Given the description of an element on the screen output the (x, y) to click on. 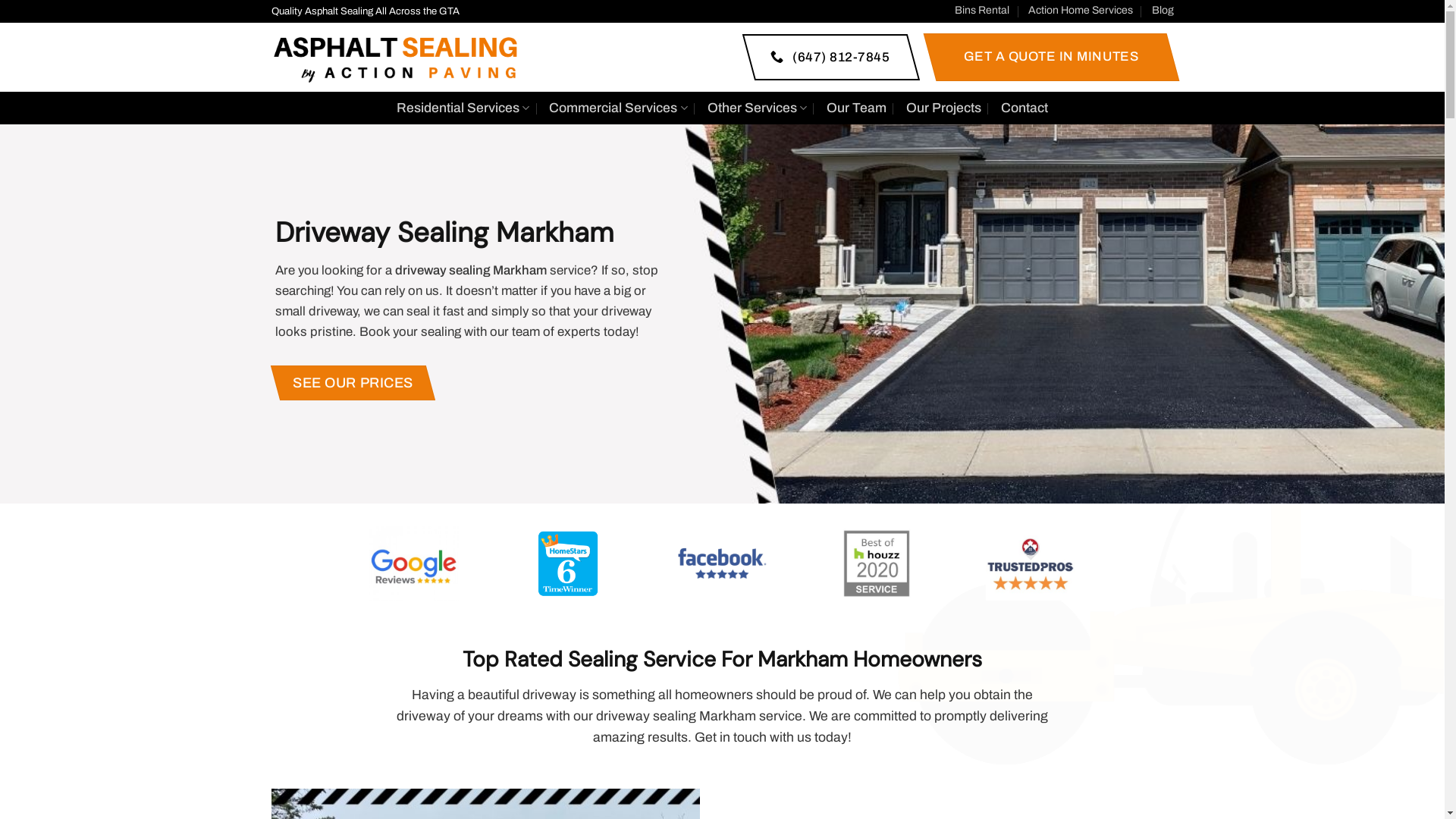
Other Services Element type: text (756, 107)
SEE OUR PRICES Element type: text (347, 382)
GET A QUOTE IN MINUTES Element type: text (1045, 57)
Our Team Element type: text (856, 107)
Residential Services Element type: text (462, 107)
Contact Element type: text (1024, 107)
Commercial Services Element type: text (618, 107)
Blog Element type: text (1162, 10)
Our Projects Element type: text (943, 107)
(647) 812-7845 Element type: text (823, 57)
Action Home Services Element type: text (1080, 10)
Asphalt Sealing - Driveway Sealing Experts Element type: hover (395, 56)
Bins Rental Element type: text (981, 10)
